Given the description of an element on the screen output the (x, y) to click on. 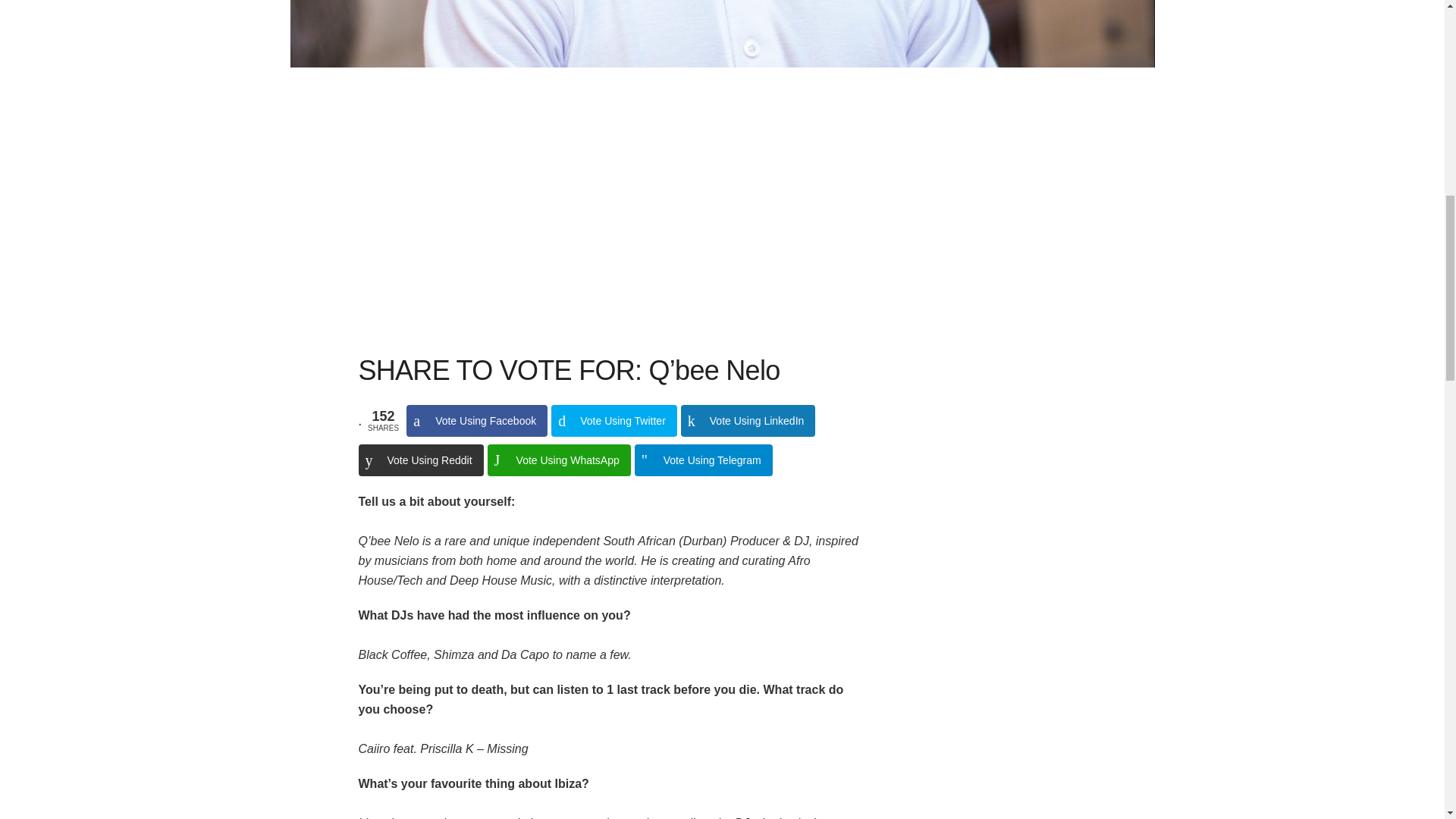
Share on Vote Using Twitter (614, 420)
Share on Vote Using Reddit (420, 459)
Share on Vote Using WhatsApp (558, 459)
Share on Vote Using Facebook (476, 420)
Share on Vote Using Telegram (703, 459)
Share on Vote Using LinkedIn (748, 420)
